Given the description of an element on the screen output the (x, y) to click on. 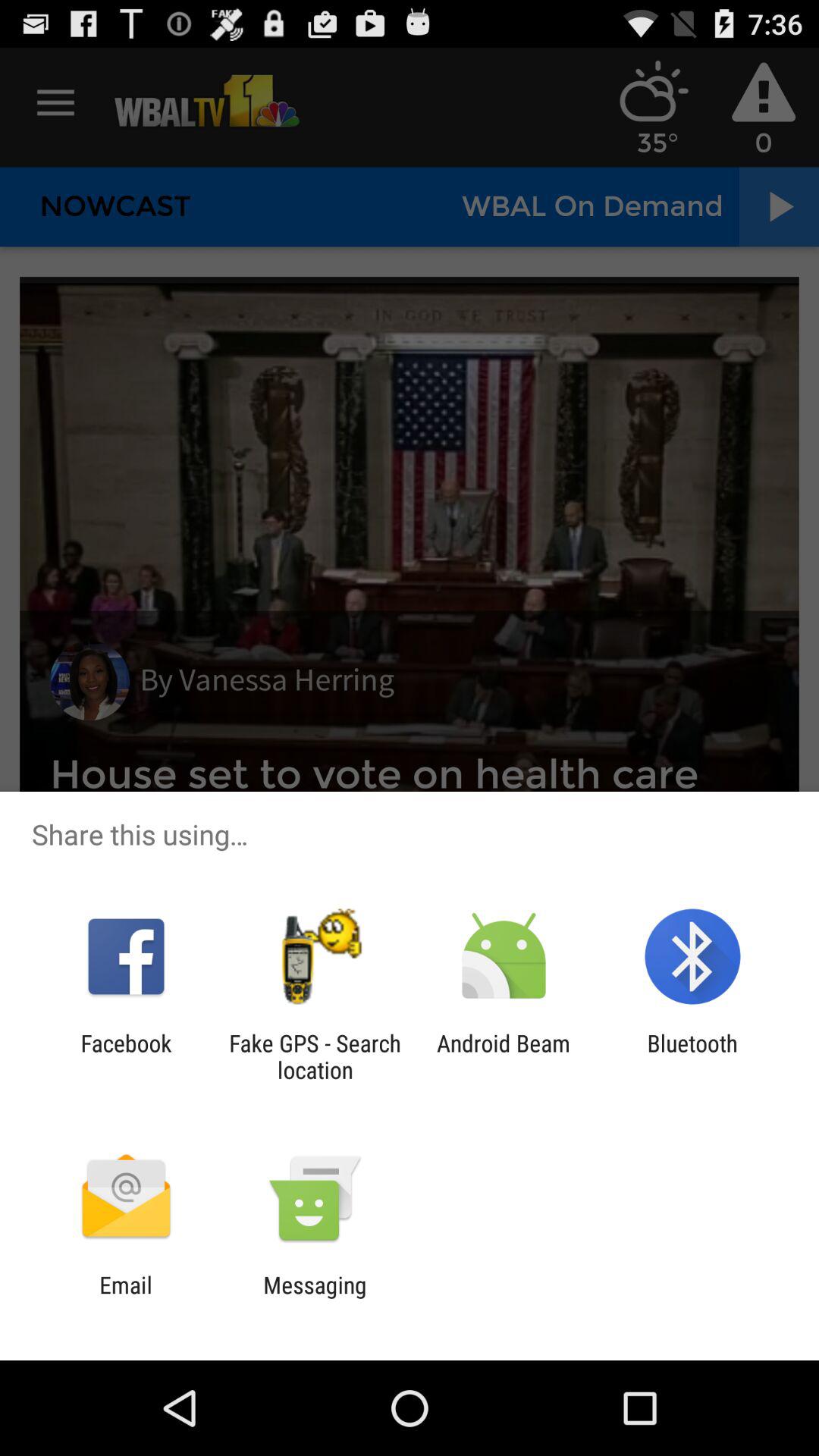
press the fake gps search item (314, 1056)
